Given the description of an element on the screen output the (x, y) to click on. 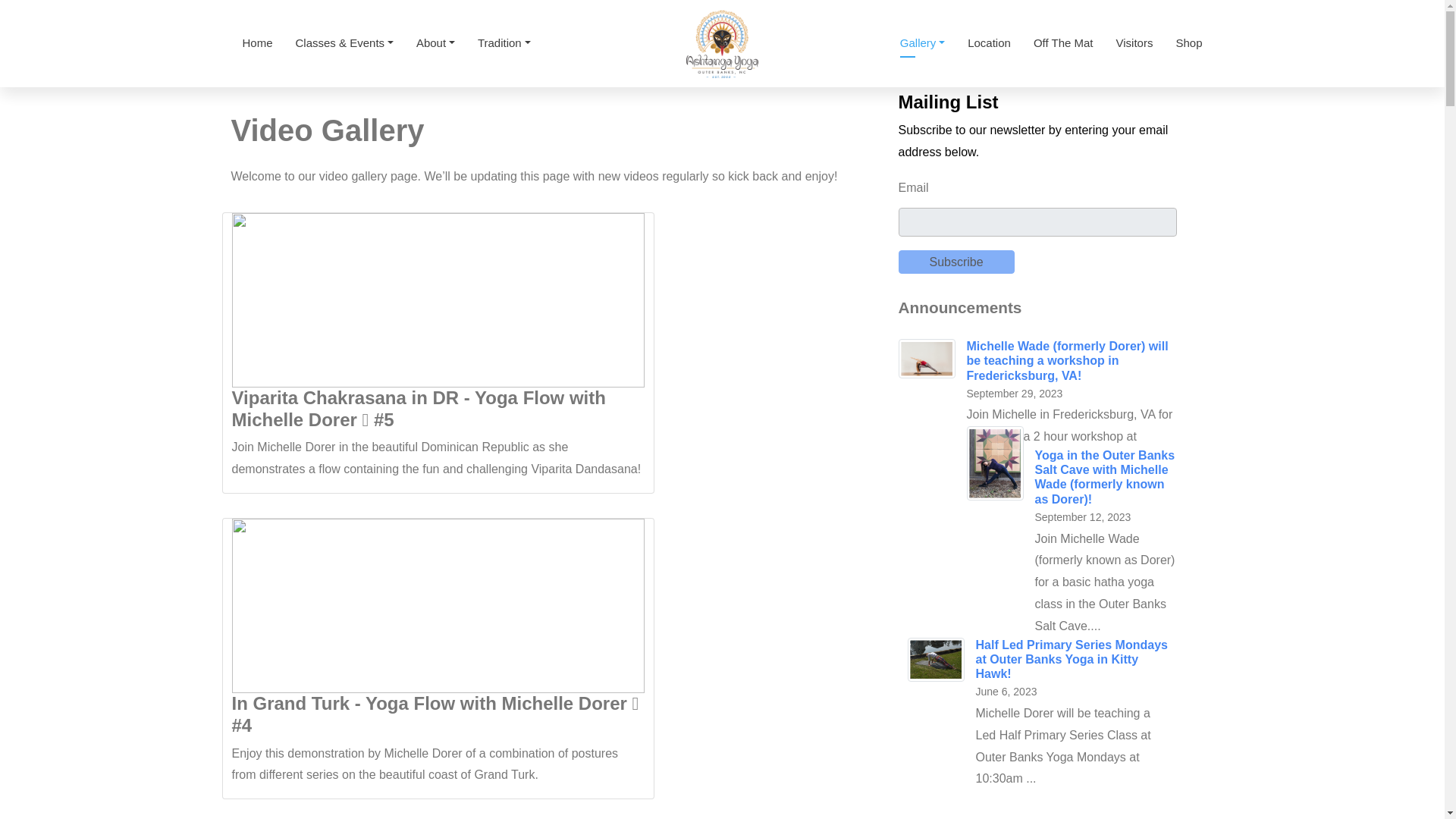
Gallery (921, 43)
Visitors (1134, 43)
About (435, 43)
Off The Mat (1063, 43)
Shop (1188, 43)
Location (989, 43)
Home (258, 43)
Tradition (504, 43)
